Given the description of an element on the screen output the (x, y) to click on. 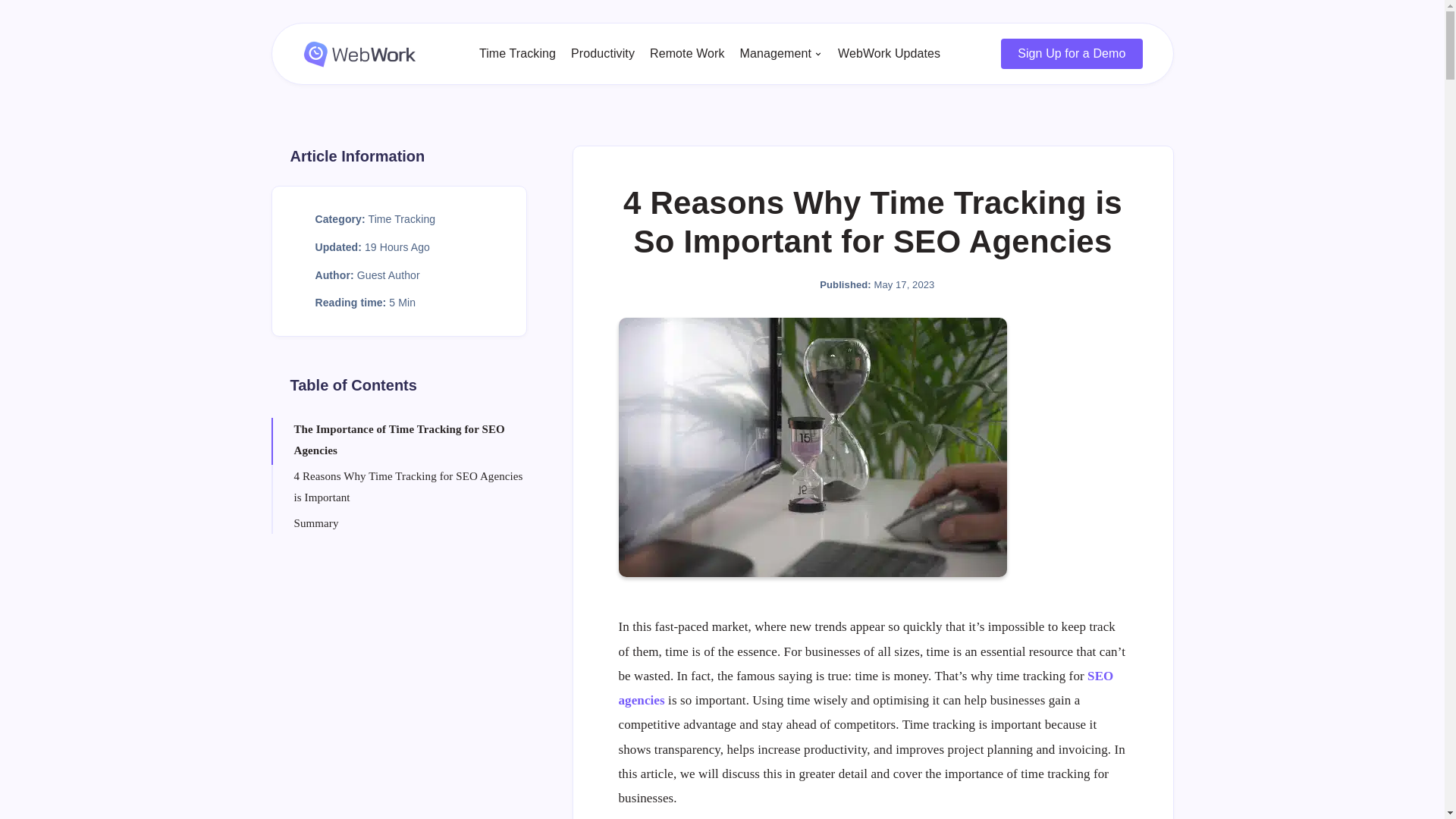
Time Tracking (517, 53)
WebWork Updates (889, 53)
SEO agencies (865, 688)
Sign Up for a Demo (1071, 53)
Productivity (602, 53)
Management (774, 53)
Remote Work (687, 53)
